Given the description of an element on the screen output the (x, y) to click on. 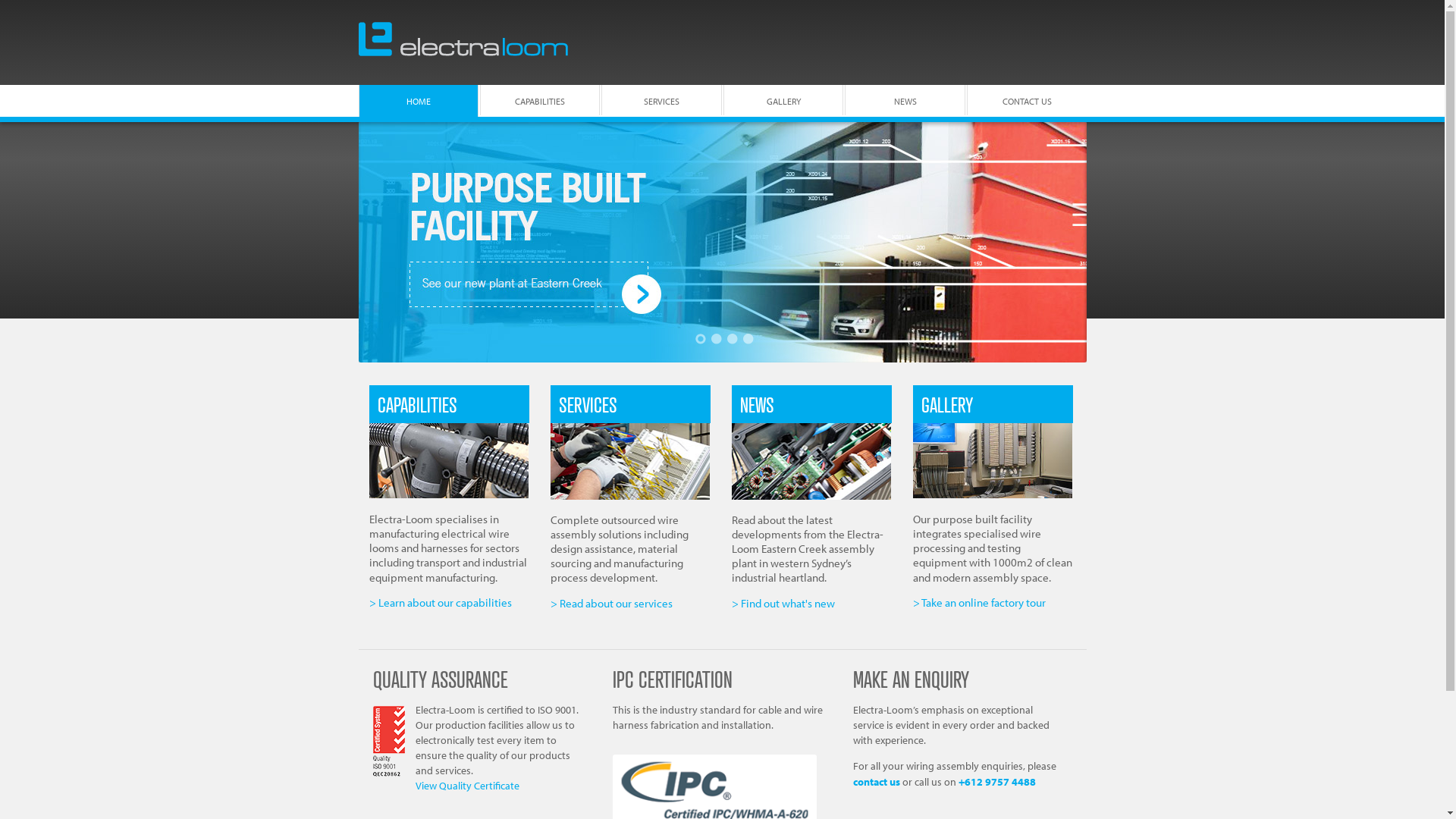
SERVICES Element type: text (587, 404)
NEWS Element type: text (904, 99)
3 Element type: text (732, 338)
4 Element type: text (748, 338)
contact us Element type: text (876, 781)
2 Element type: text (716, 338)
1 Element type: text (700, 338)
CAPABILITIES Element type: text (539, 99)
HOME Element type: text (417, 100)
> Find out what's new Element type: text (782, 603)
CAPABILITIES Element type: text (417, 404)
GALLERY Element type: text (946, 404)
View Quality Certificate Element type: text (467, 785)
GALLERY Element type: text (783, 99)
CONTACT US Element type: text (1026, 99)
> Take an online factory tour Element type: text (979, 602)
NEWS Element type: text (757, 404)
Facilities Element type: hover (721, 242)
> Learn about our capabilities Element type: text (439, 602)
SERVICES Element type: text (661, 99)
> Read about our services Element type: text (611, 603)
